Given the description of an element on the screen output the (x, y) to click on. 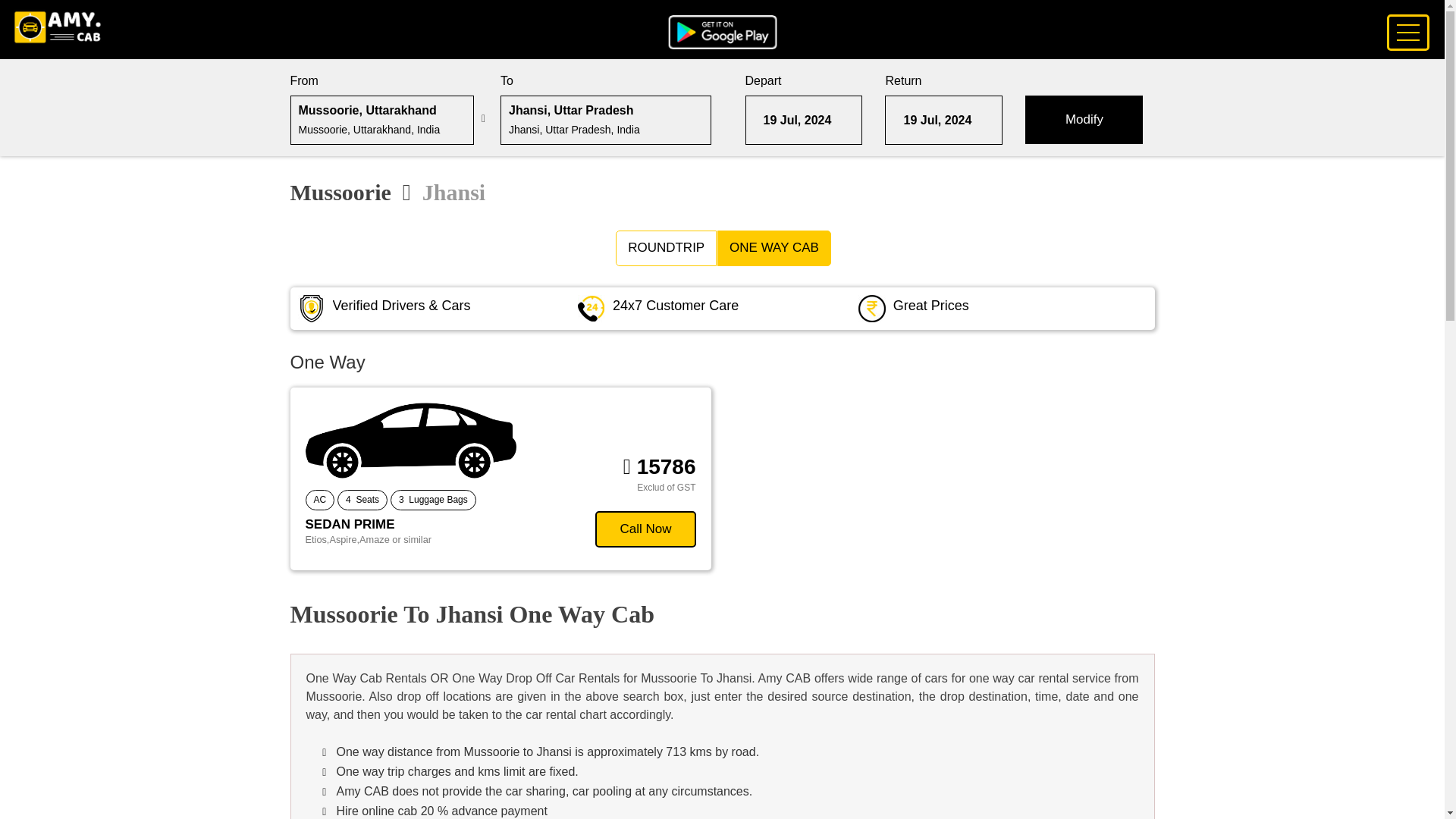
ROUNDTRIP (665, 247)
ONE WAY CAB (774, 247)
4  Seats (362, 499)
3  Luggage Bags (433, 499)
AC (319, 499)
Call Now (645, 529)
Modify (1083, 119)
